Given the description of an element on the screen output the (x, y) to click on. 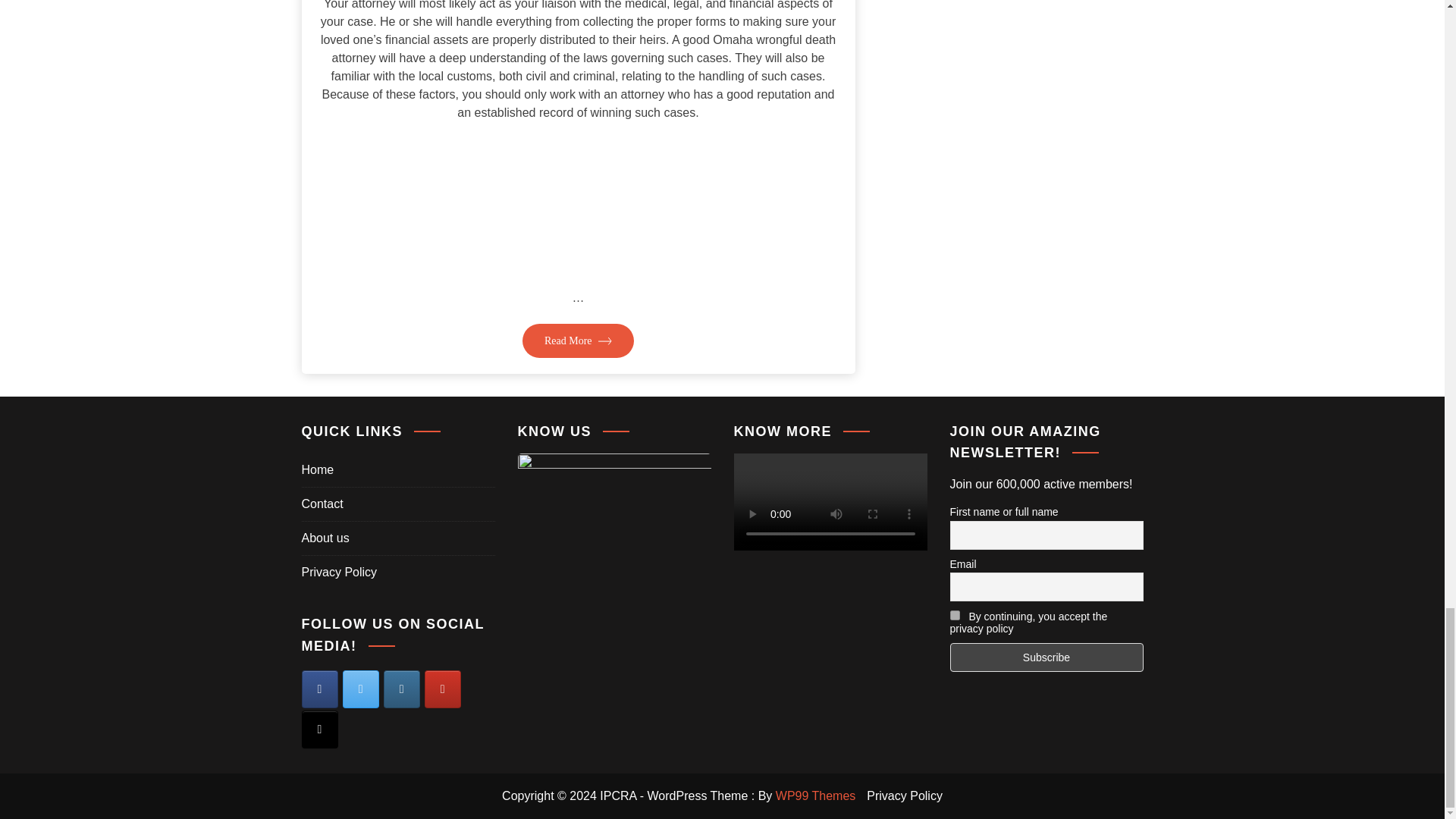
IPCRA on Youtube (443, 689)
IPCRA on X Twitter (360, 689)
IPCRA on Facebook (319, 689)
IPCRA on Instagram (402, 689)
on (954, 614)
IPCRA on Tiktok (319, 729)
Subscribe (1045, 656)
